Given the description of an element on the screen output the (x, y) to click on. 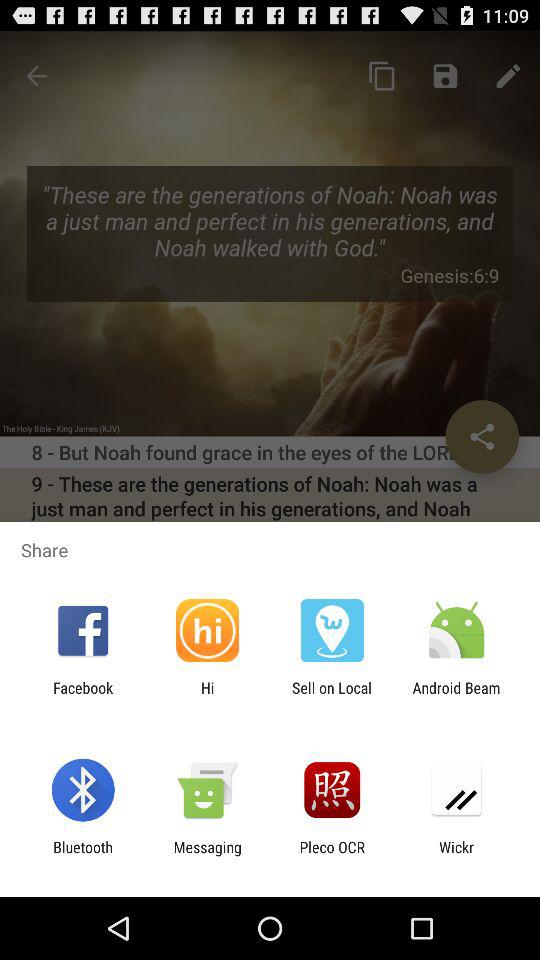
turn off app to the left of wickr app (331, 856)
